Given the description of an element on the screen output the (x, y) to click on. 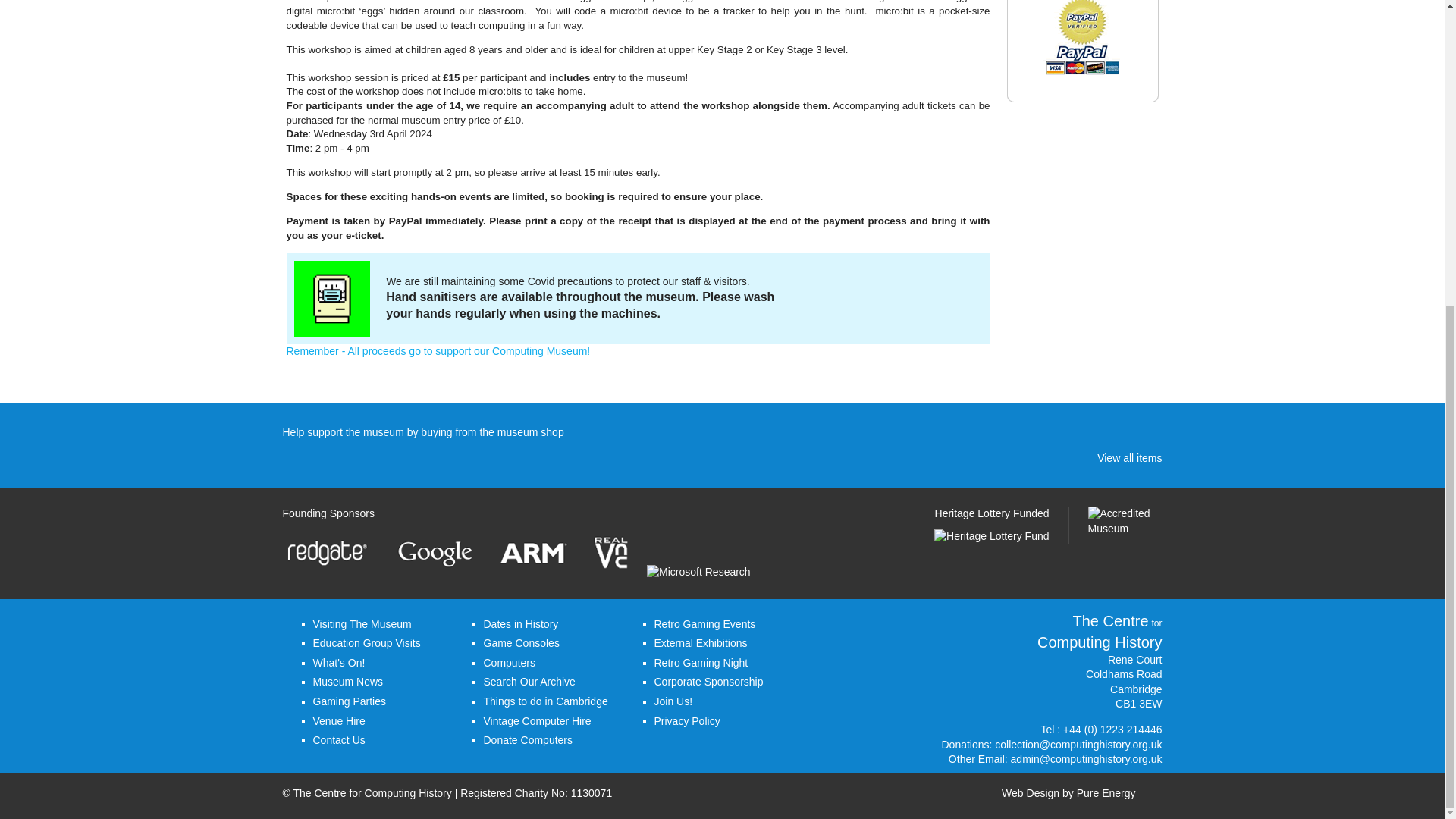
Vintage Computer Hire (537, 720)
